Given the description of an element on the screen output the (x, y) to click on. 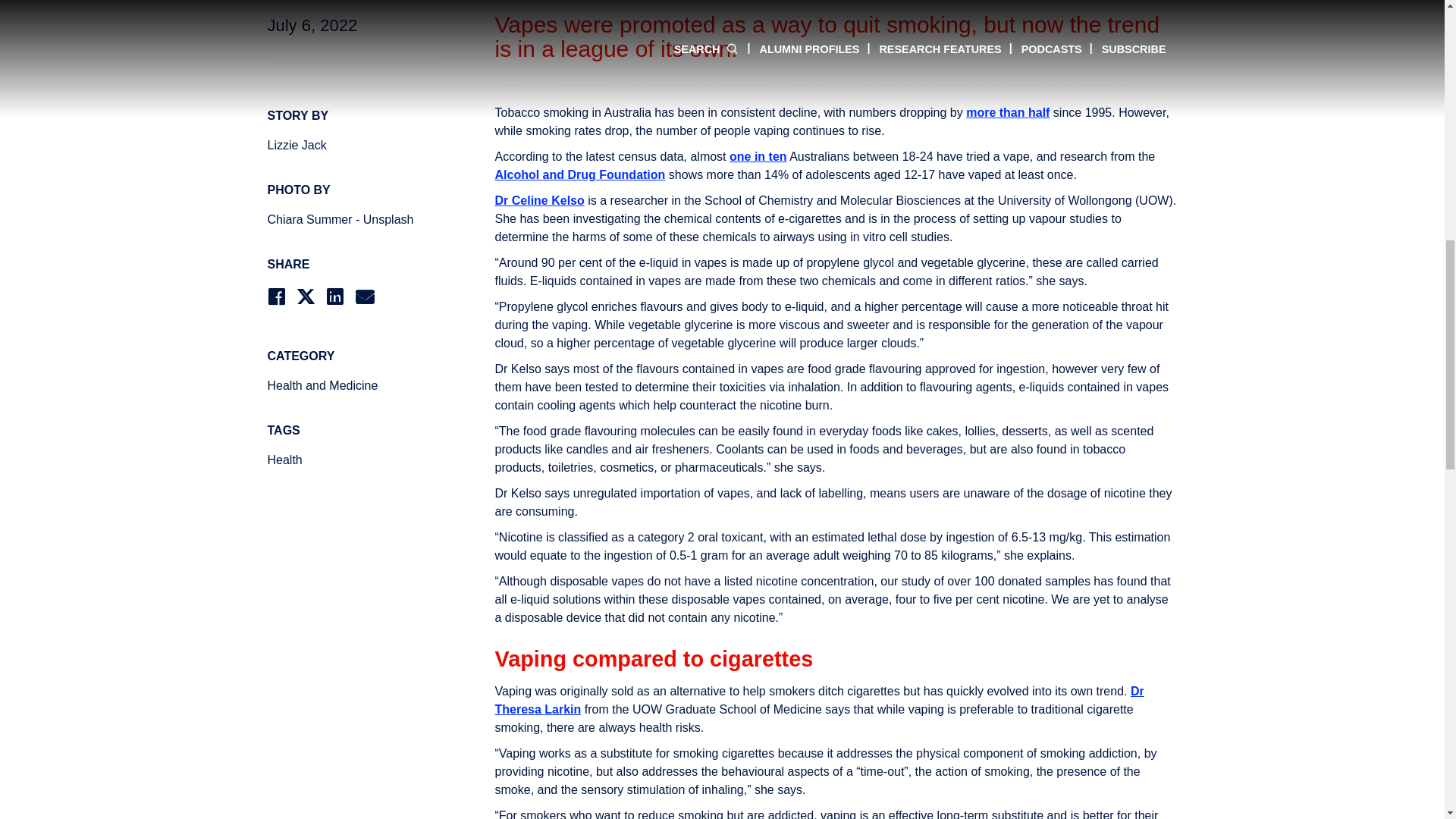
Dr Celine Kelso (539, 200)
one in ten (758, 155)
Health and Medicine (352, 385)
Share via Email (364, 296)
Health (352, 460)
Alcohol and Drug Foundation (580, 174)
Share on LinkedIn (334, 296)
Share on Facebook (274, 296)
Dr Theresa Larkin (818, 699)
Share on Twitter (305, 296)
more than half (1007, 112)
